Given the description of an element on the screen output the (x, y) to click on. 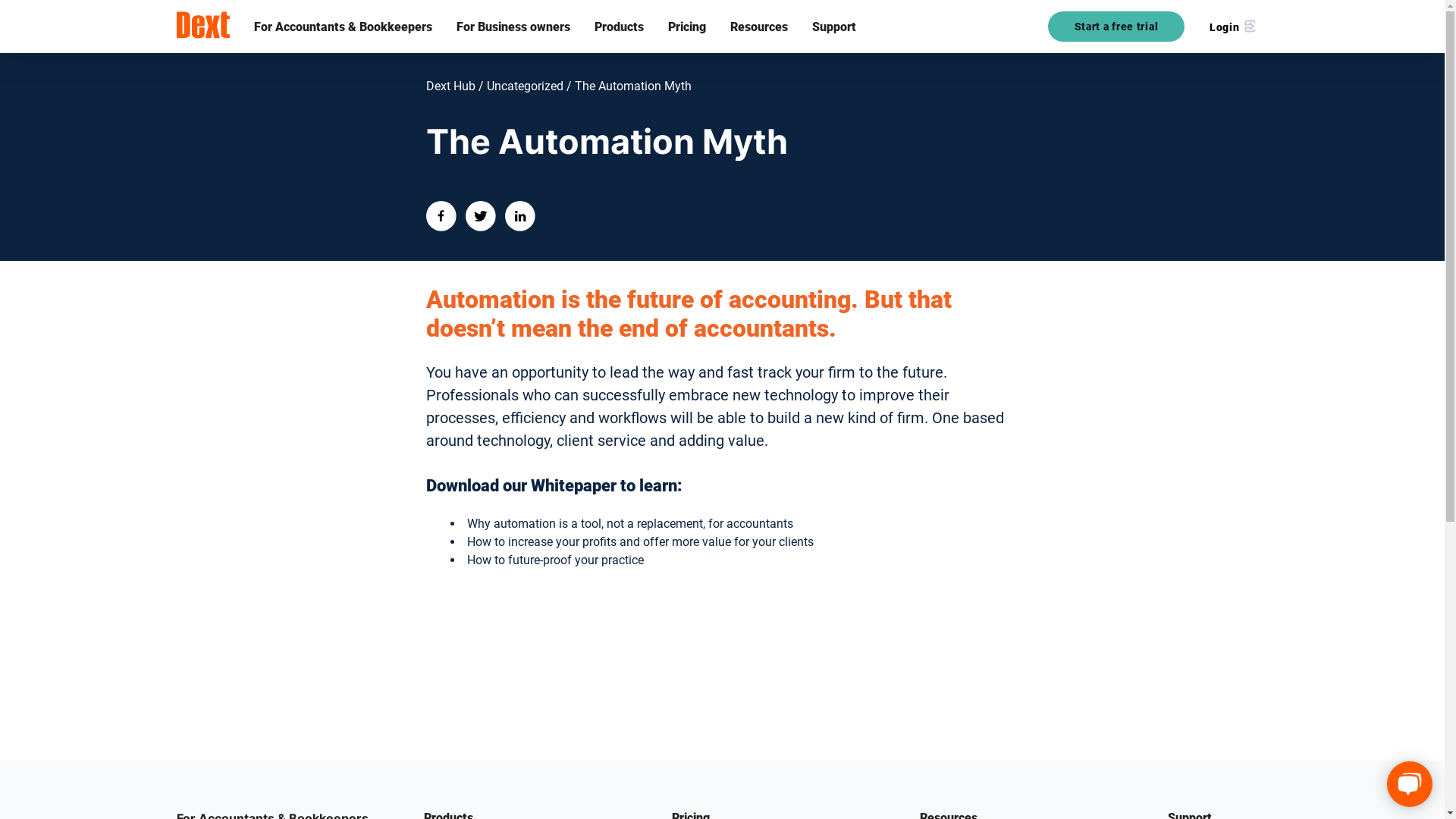
The Automation Myth (627, 85)
Login to dext (1232, 26)
Dext Hub (451, 85)
Login (1232, 26)
Uncategorized (519, 85)
Start a free trial (1116, 26)
Home (202, 26)
For Business owners (513, 26)
